Given the description of an element on the screen output the (x, y) to click on. 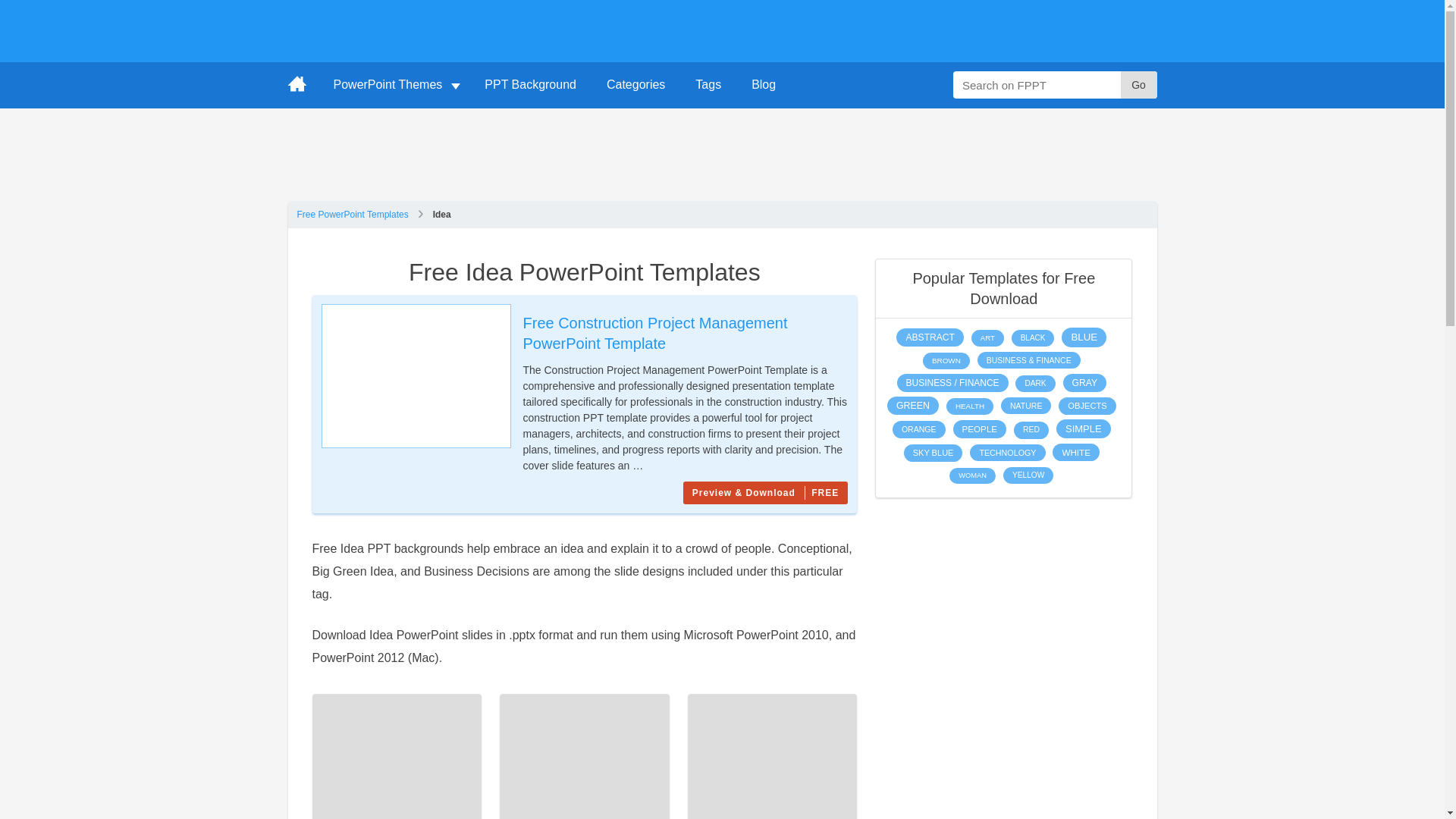
PPT Background (529, 84)
Marketing Mix Diagram Template for PowerPoint (584, 756)
Free Big Idea PowerPoint Template (397, 756)
Blog (763, 84)
Free Construction Project Management PowerPoint Template (654, 333)
Tags (707, 84)
PowerPoint Themes (394, 84)
Go (1139, 84)
Categories (635, 84)
